Given the description of an element on the screen output the (x, y) to click on. 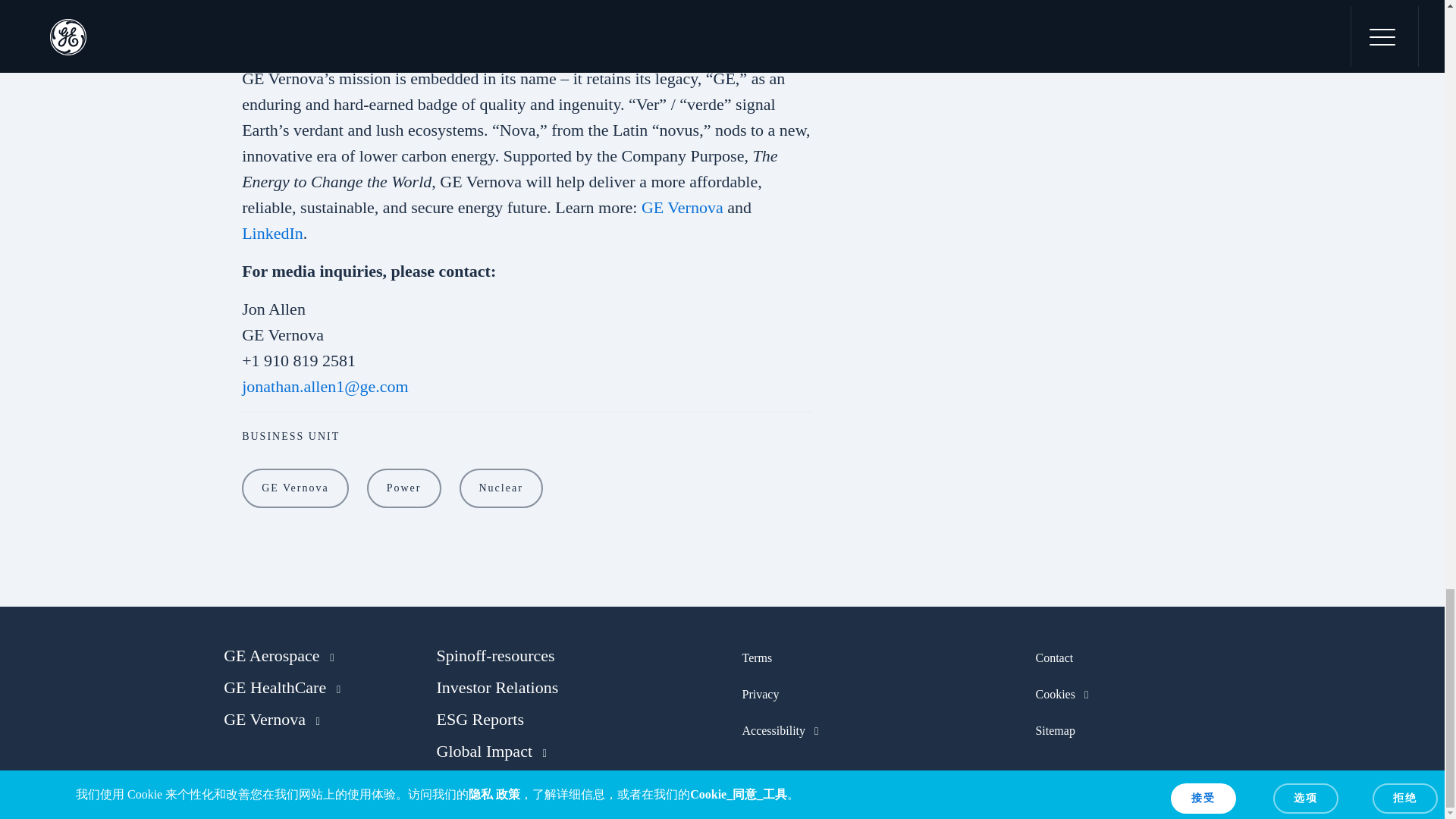
GE Vernova (682, 207)
GE Vernova (303, 488)
LinkedIn (271, 232)
GE Vernova (295, 487)
